Given the description of an element on the screen output the (x, y) to click on. 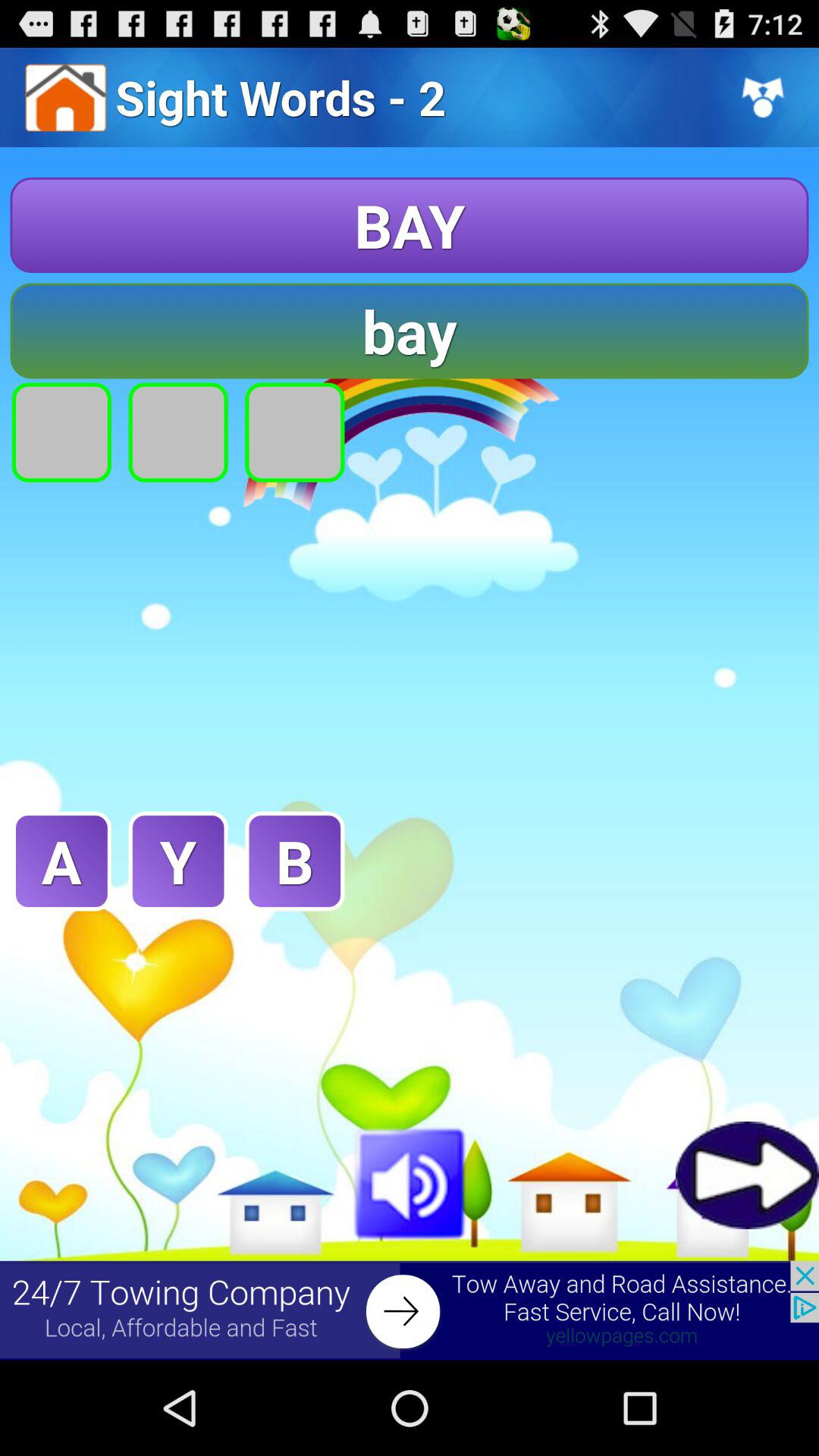
go to next (747, 1175)
